Given the description of an element on the screen output the (x, y) to click on. 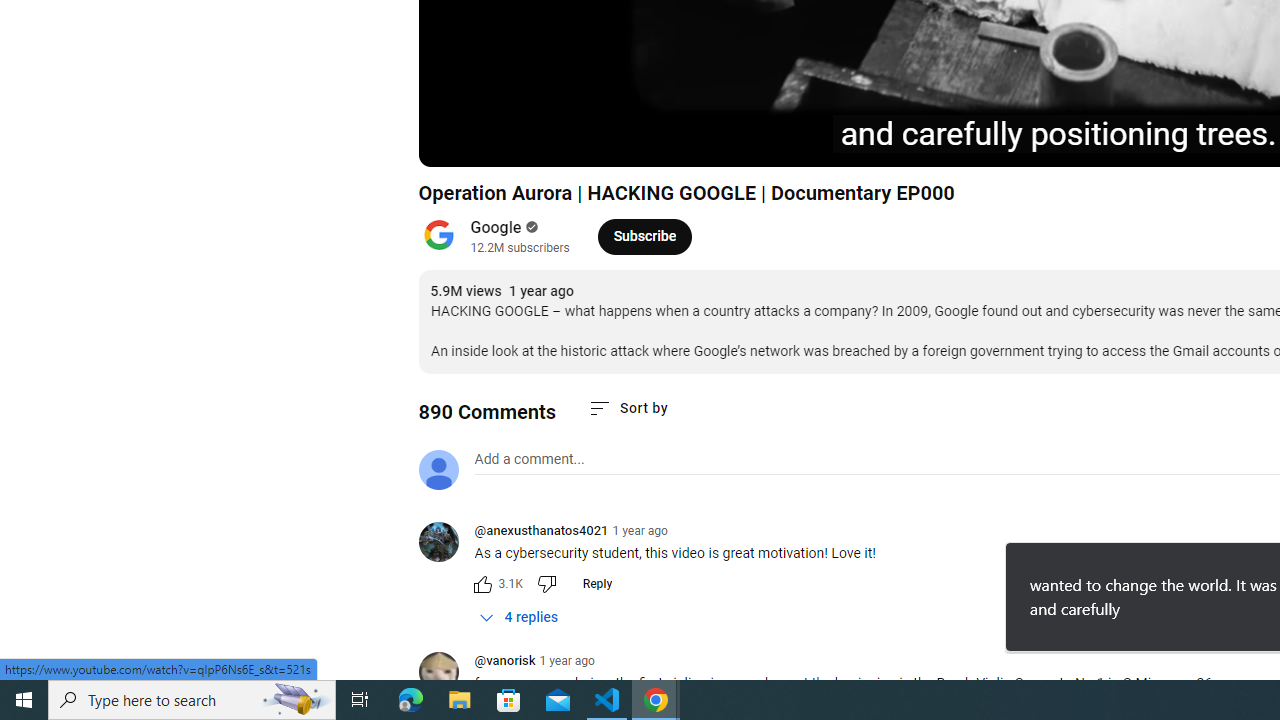
Reply (596, 583)
Default profile photo (438, 470)
AutomationID: simplebox-placeholder (528, 459)
4 replies (518, 617)
Subscribe to Google. (644, 236)
Pause (k) (453, 142)
Next (SHIFT+n) (500, 142)
Mute (m) (548, 142)
1 year ago (566, 661)
@vanorisk (504, 661)
@anexusthanatos4021 (446, 543)
Sort comments (627, 408)
Like this comment along with 3.1K other people (482, 583)
